Given the description of an element on the screen output the (x, y) to click on. 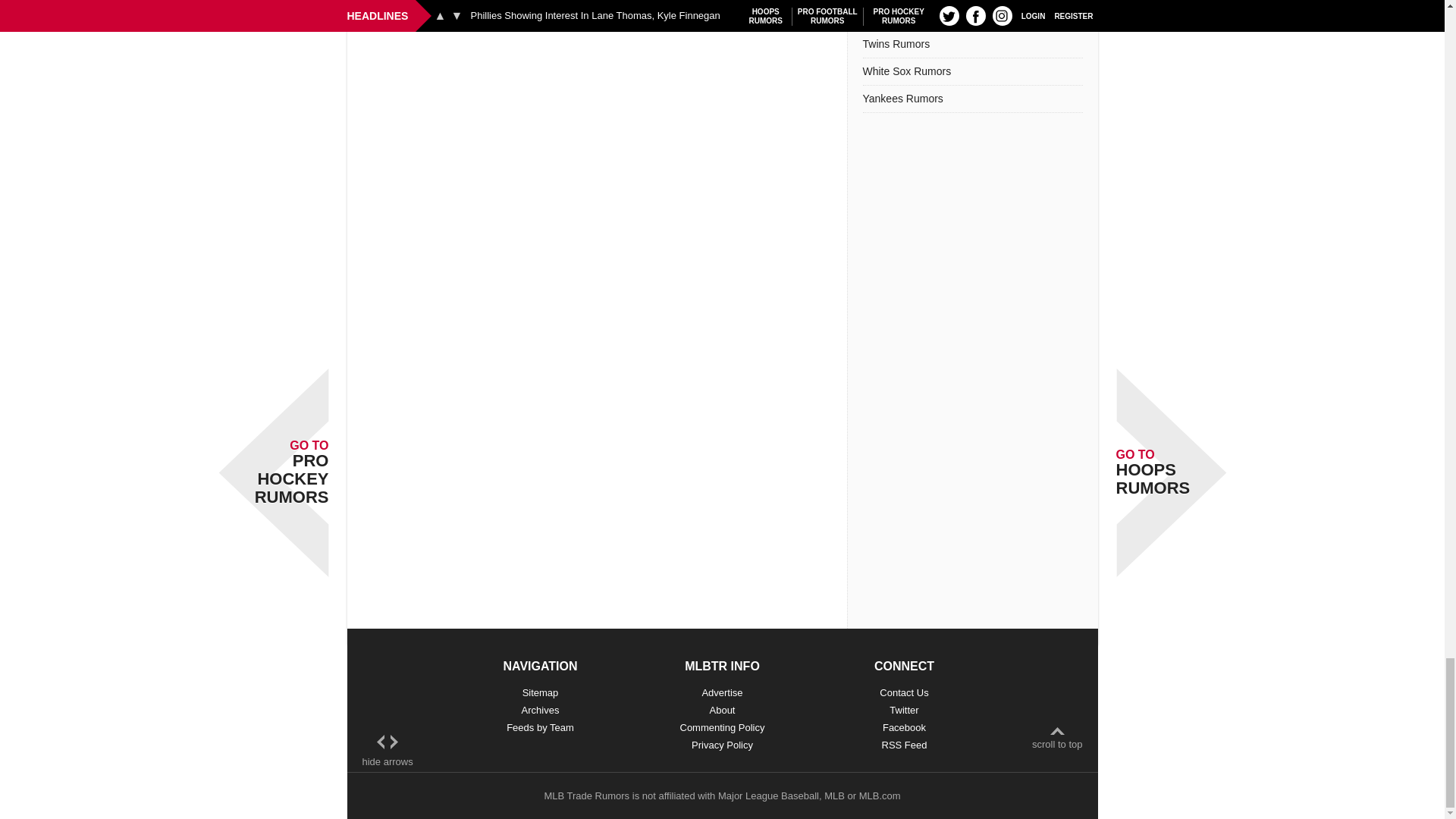
MLB Trade Rumors (585, 795)
